Given the description of an element on the screen output the (x, y) to click on. 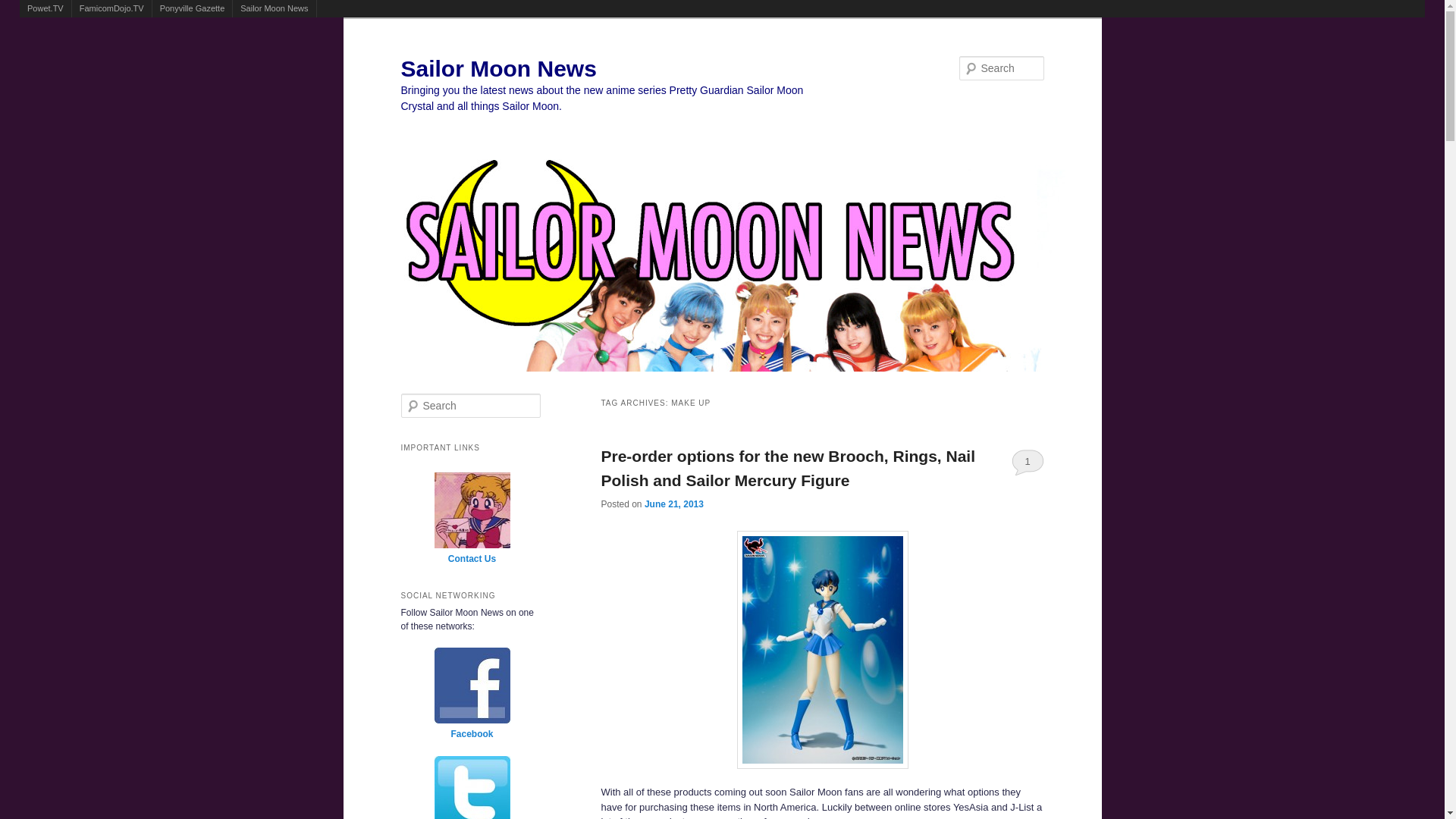
Sailor Moon News (273, 8)
Skip to secondary content (468, 386)
Powet.TV (45, 8)
Ponyville Gazette (192, 8)
Sailor Moon News (497, 68)
FamicomDojo.TV (111, 8)
1 (1027, 461)
